Given the description of an element on the screen output the (x, y) to click on. 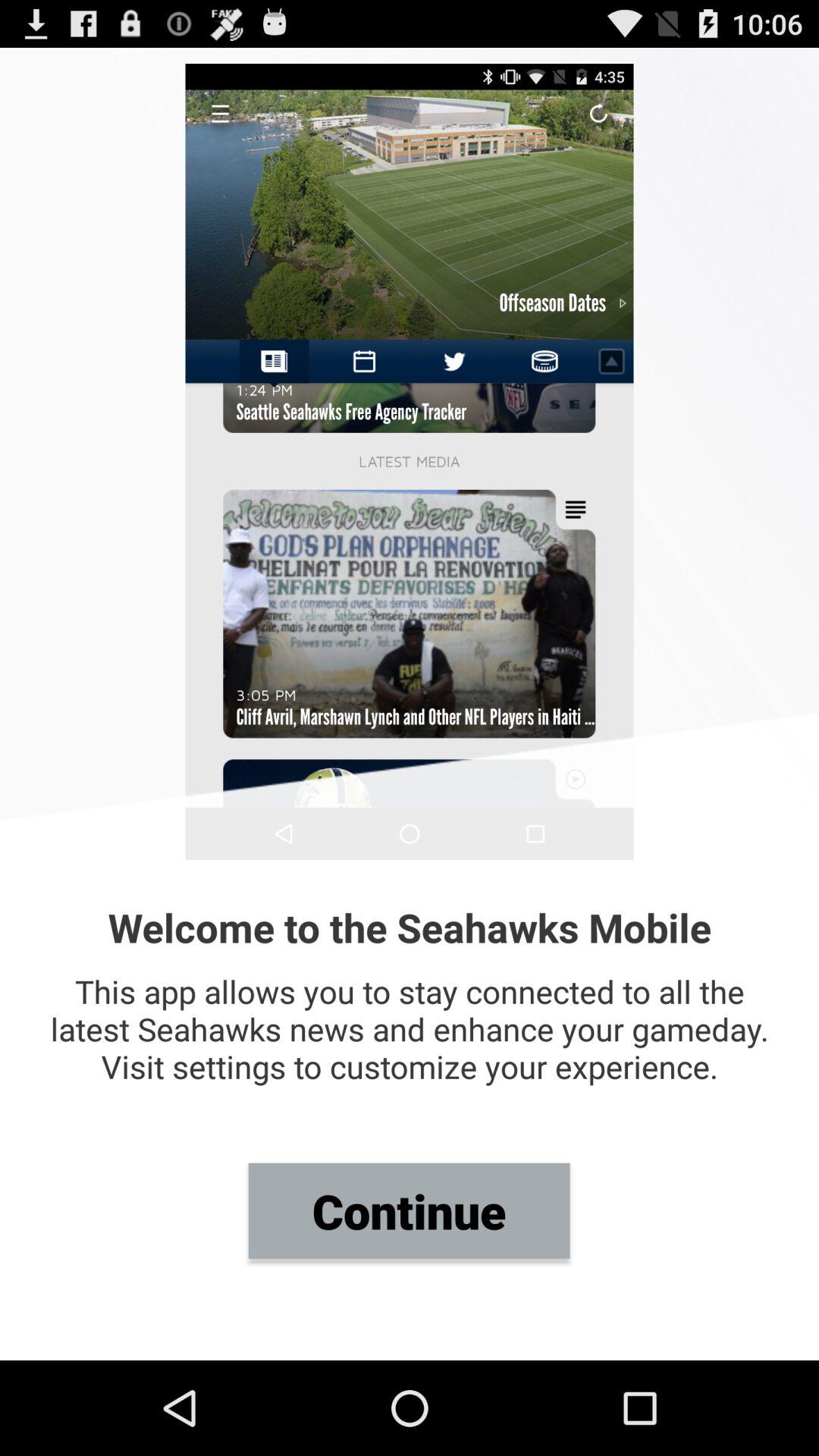
turn on the continue item (408, 1210)
